Given the description of an element on the screen output the (x, y) to click on. 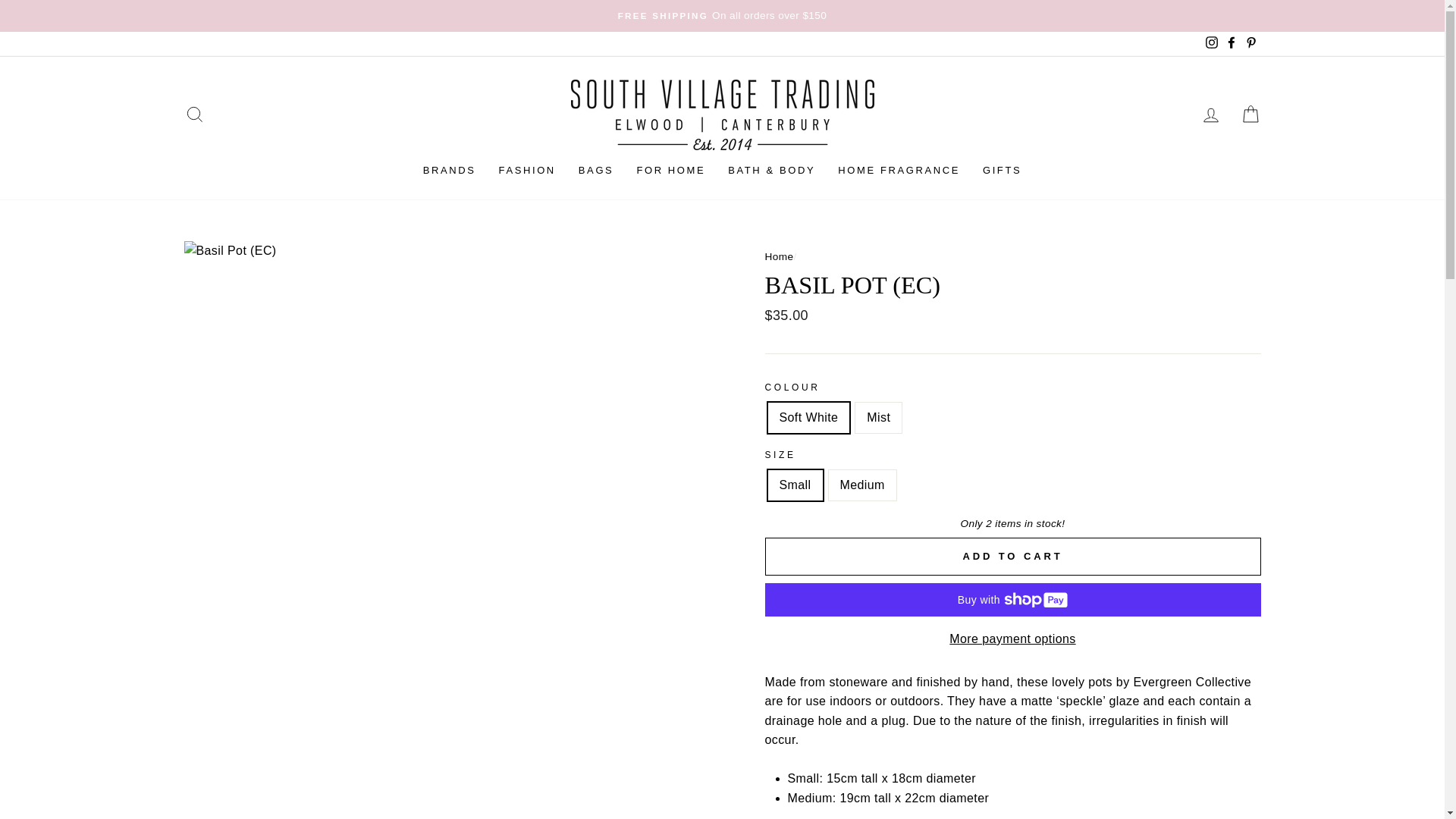
Back to the frontpage (778, 256)
